Given the description of an element on the screen output the (x, y) to click on. 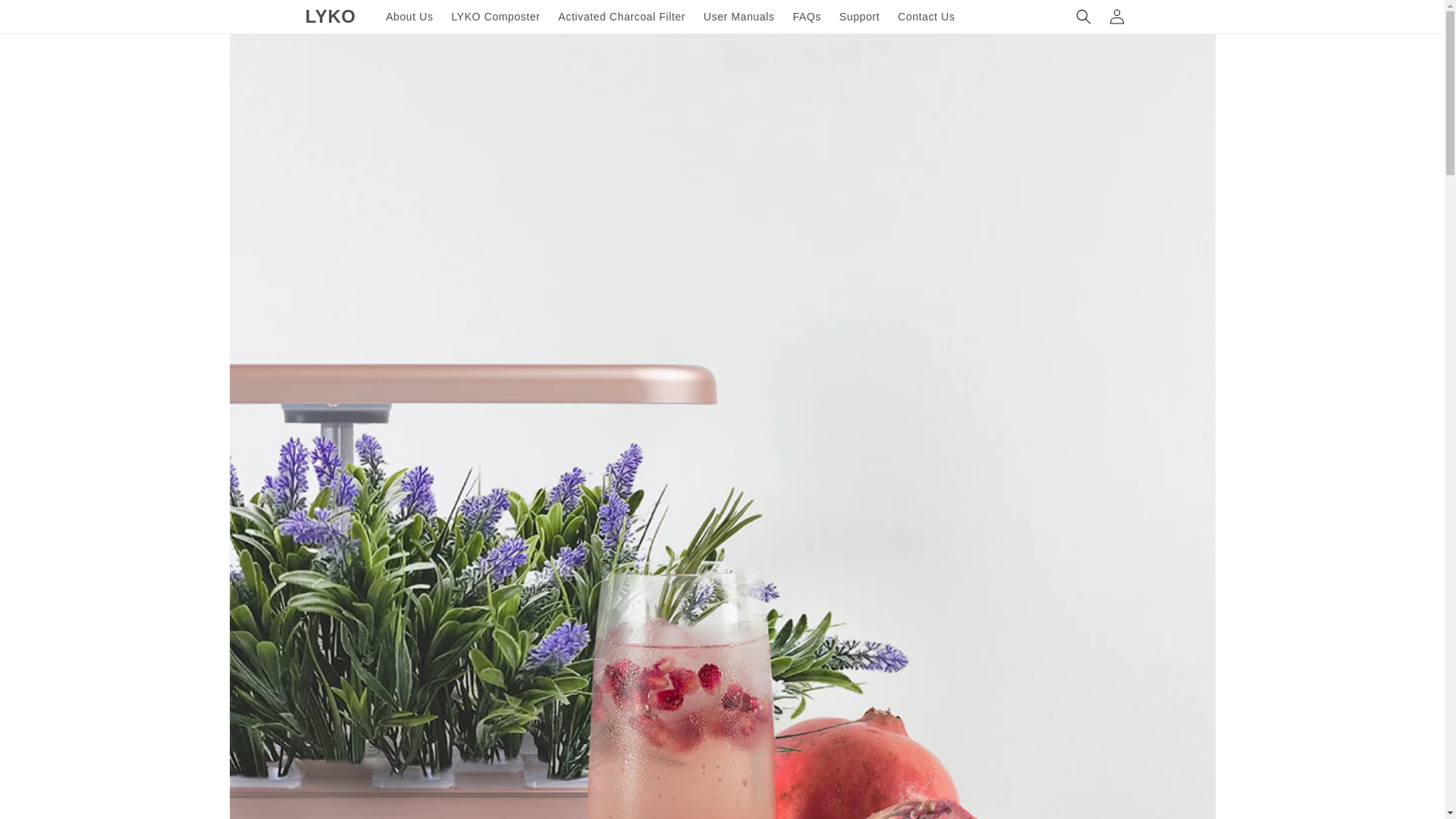
Contact Us (925, 16)
LYKO Composter (495, 16)
Direkt zum Inhalt (45, 17)
User Manuals (739, 16)
Einloggen (1115, 16)
About Us (409, 16)
LYKO (330, 16)
FAQs (806, 16)
Activated Charcoal Filter (621, 16)
Support (858, 16)
